Given the description of an element on the screen output the (x, y) to click on. 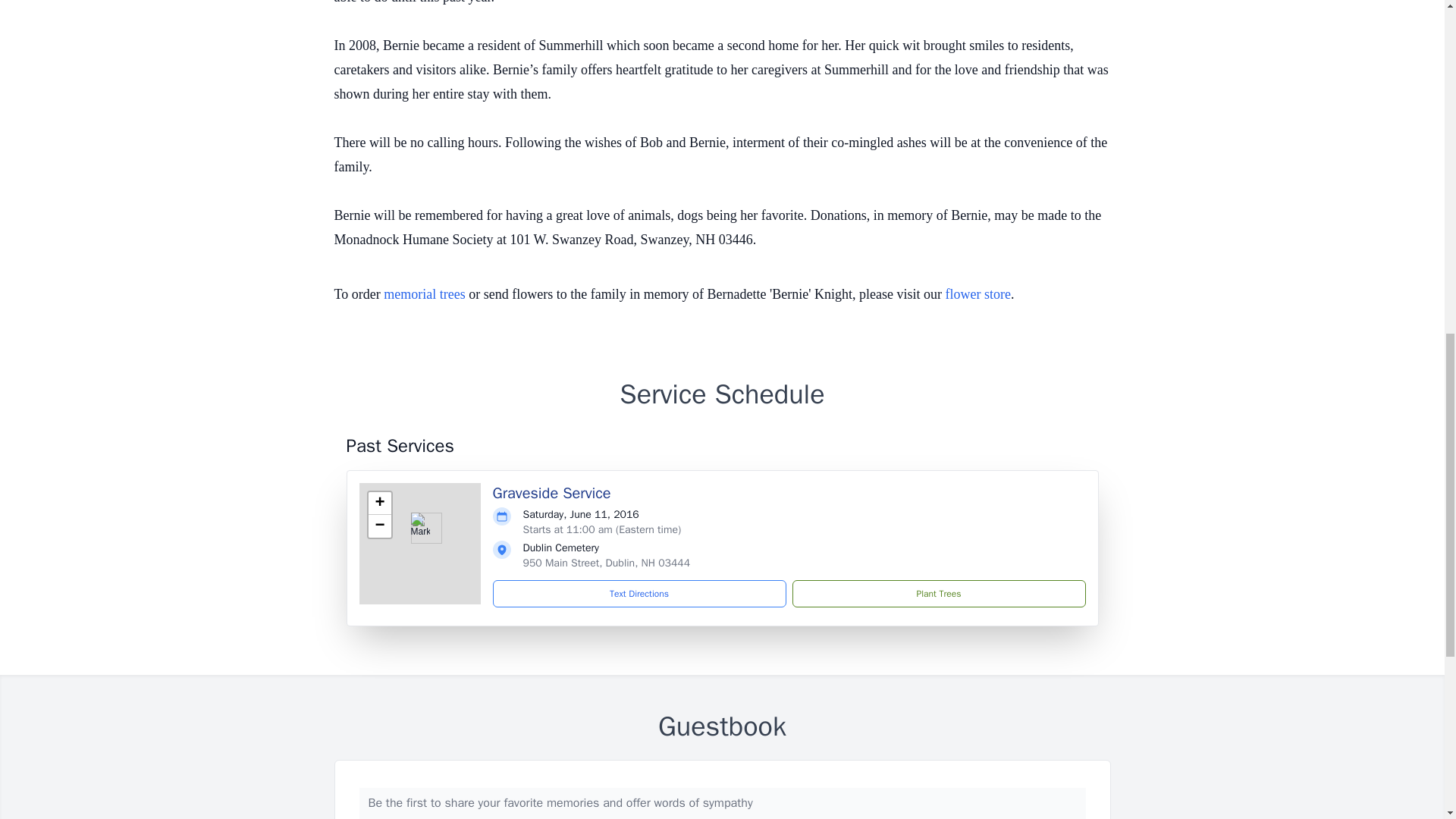
Zoom out (379, 526)
Zoom in (379, 503)
Plant Trees (938, 593)
Text Directions (639, 593)
memorial trees (424, 294)
flower store (977, 294)
950 Main Street, Dublin, NH 03444 (606, 562)
